Given the description of an element on the screen output the (x, y) to click on. 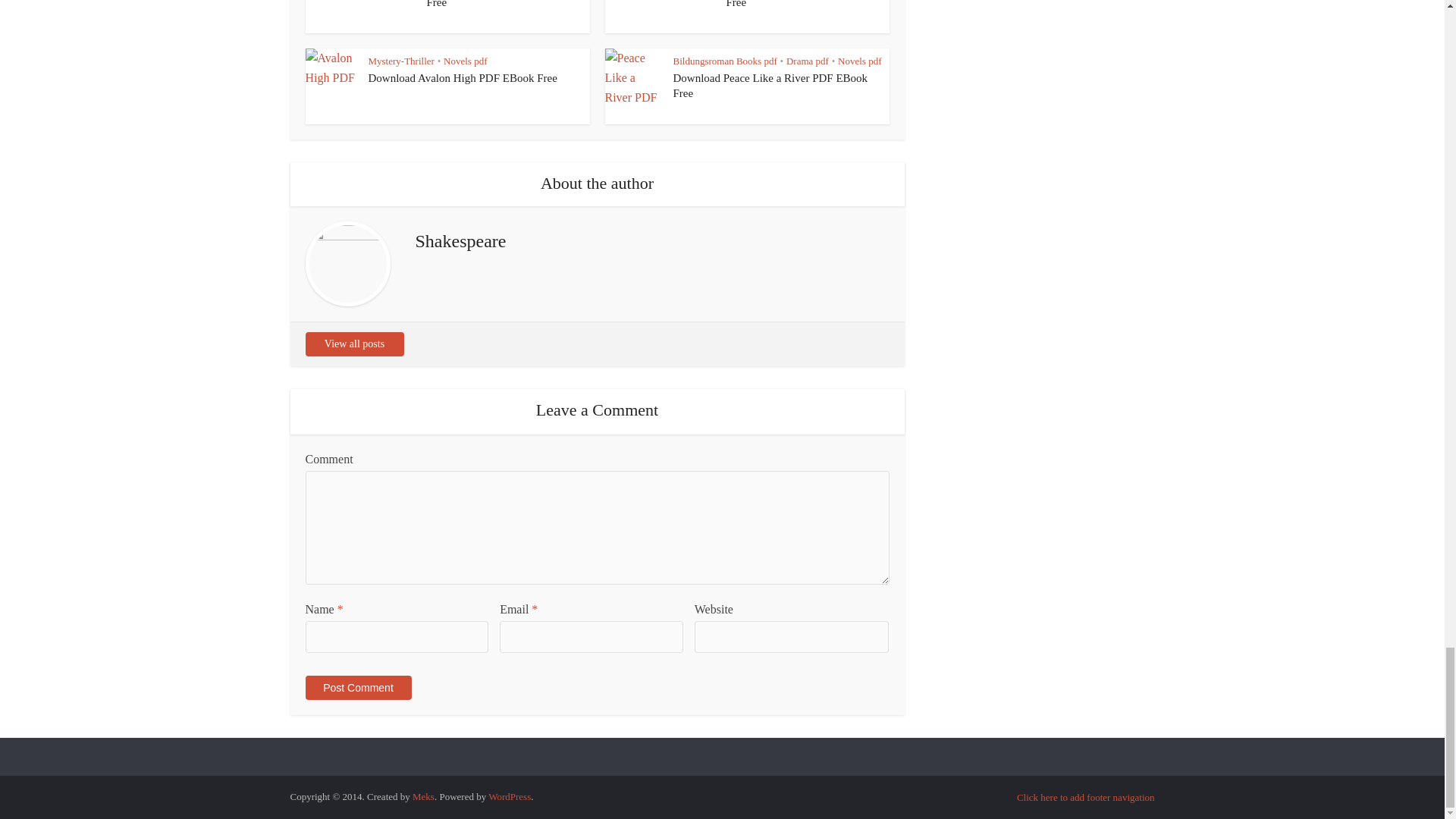
Download Anthem Pdf EBook Free (496, 4)
Download Shiloh Pdf EBook Free (792, 4)
Download Peace Like a River PDF EBook Free (769, 85)
Post Comment (357, 687)
Download Anthem Pdf EBook Free (496, 4)
Download Avalon High PDF EBook Free (462, 78)
